Given the description of an element on the screen output the (x, y) to click on. 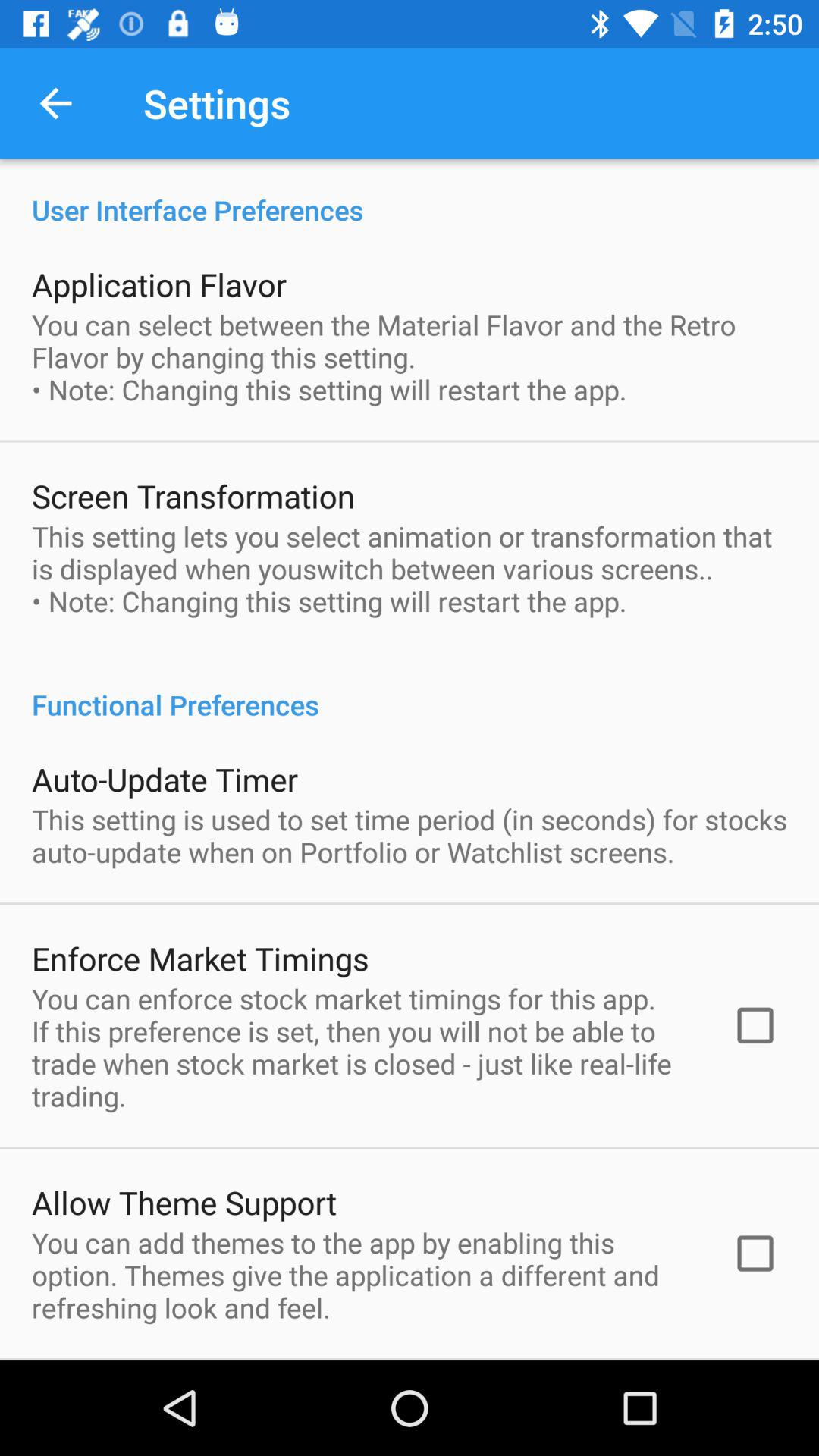
go back (55, 103)
